Given the description of an element on the screen output the (x, y) to click on. 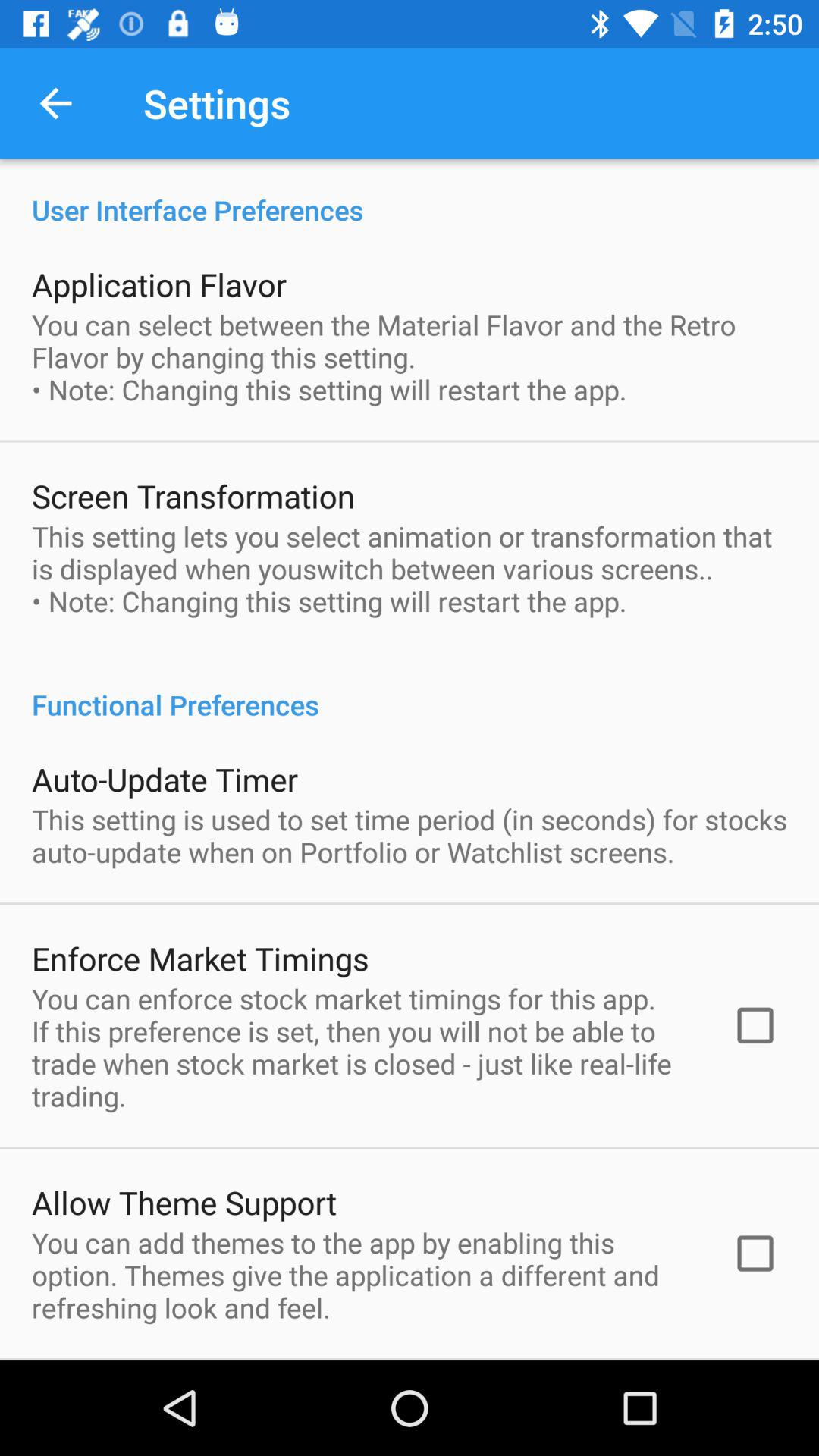
go back (55, 103)
